Given the description of an element on the screen output the (x, y) to click on. 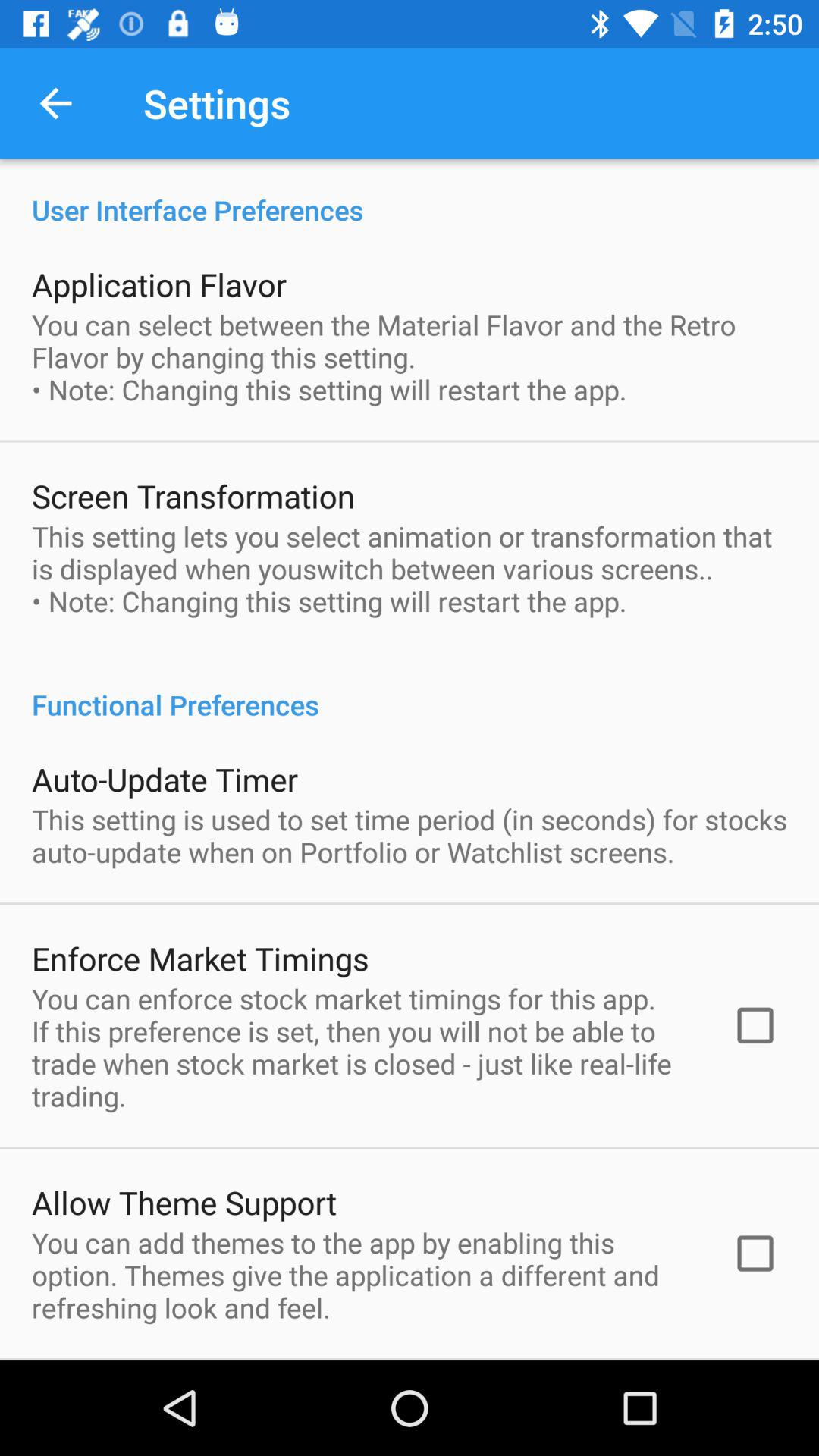
go back (55, 103)
